Given the description of an element on the screen output the (x, y) to click on. 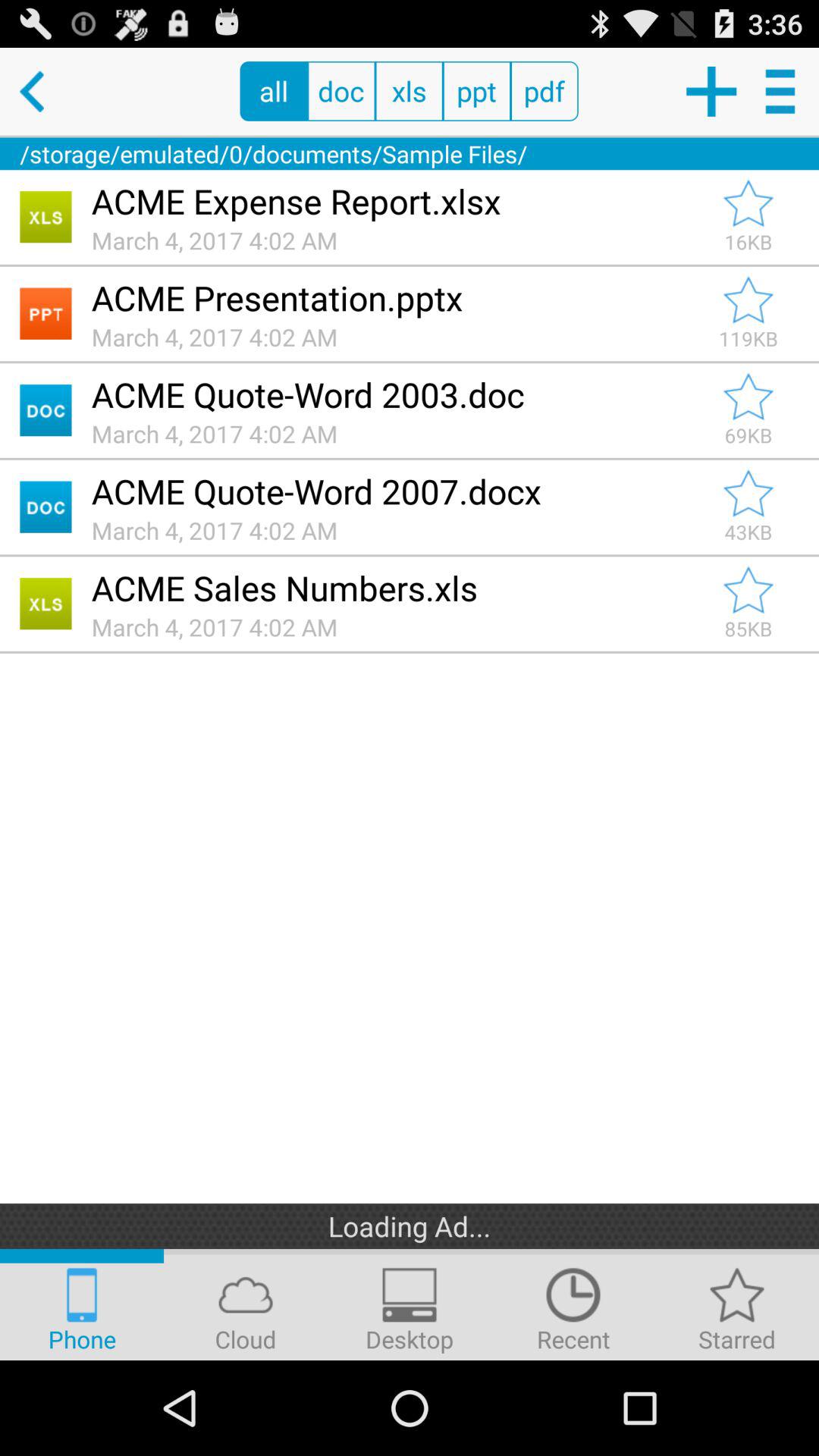
go to previous (43, 91)
